Given the description of an element on the screen output the (x, y) to click on. 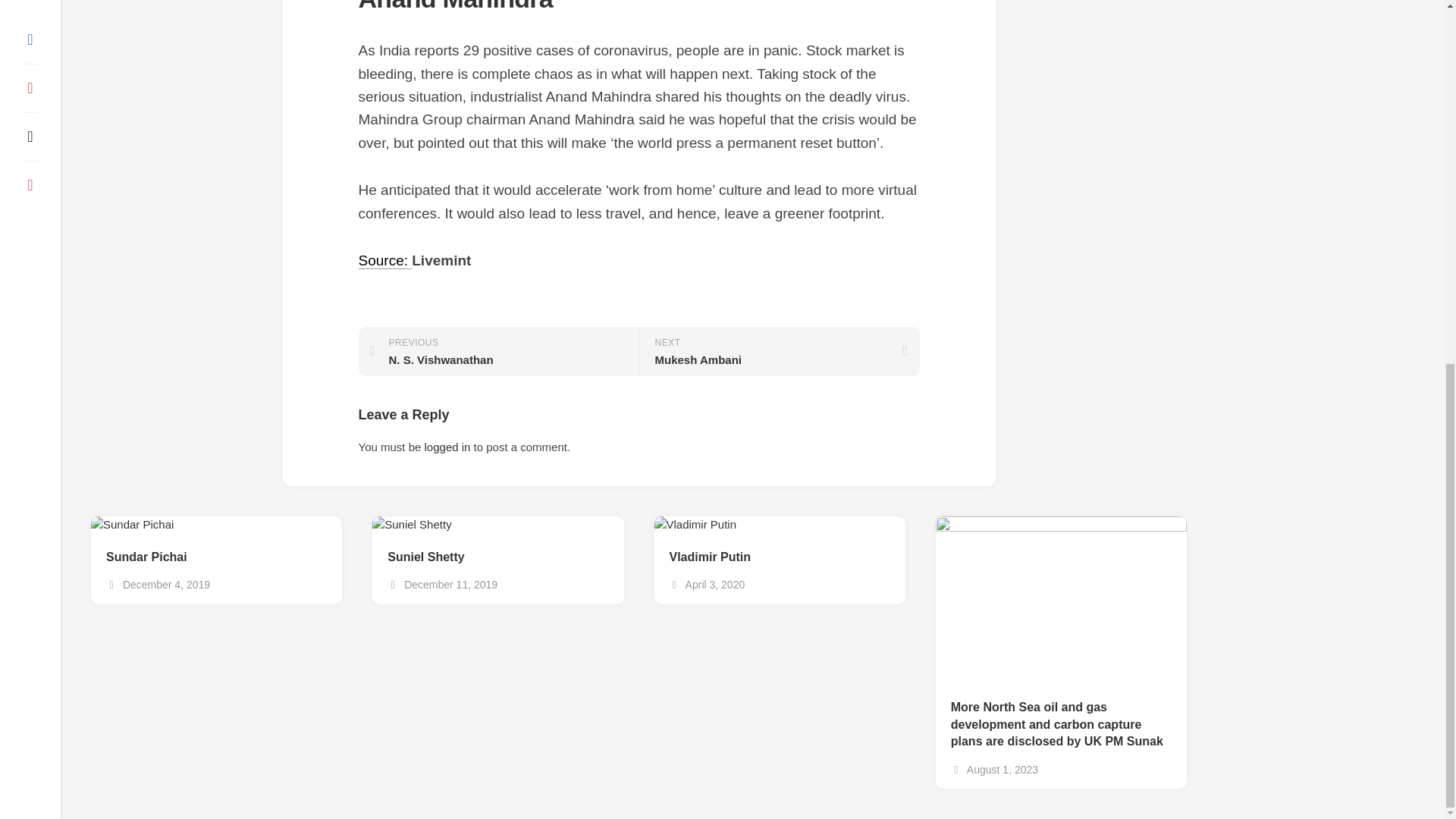
Vladimir Putin (778, 557)
Suniel Shetty (497, 557)
logged in (447, 446)
Source: (385, 260)
Sundar Pichai (778, 350)
